Given the description of an element on the screen output the (x, y) to click on. 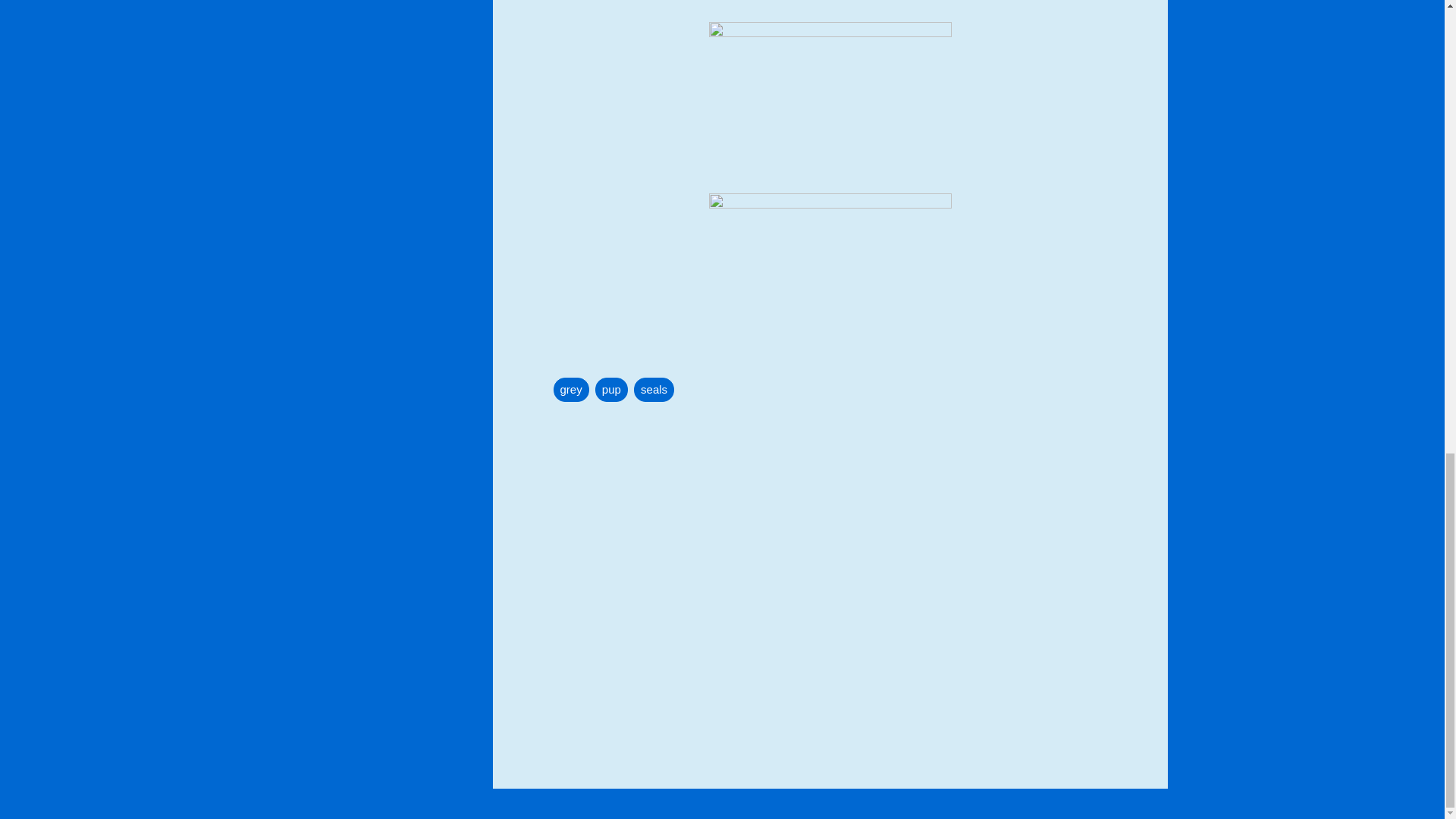
seals (653, 389)
pup (611, 389)
grey (571, 389)
